Given the description of an element on the screen output the (x, y) to click on. 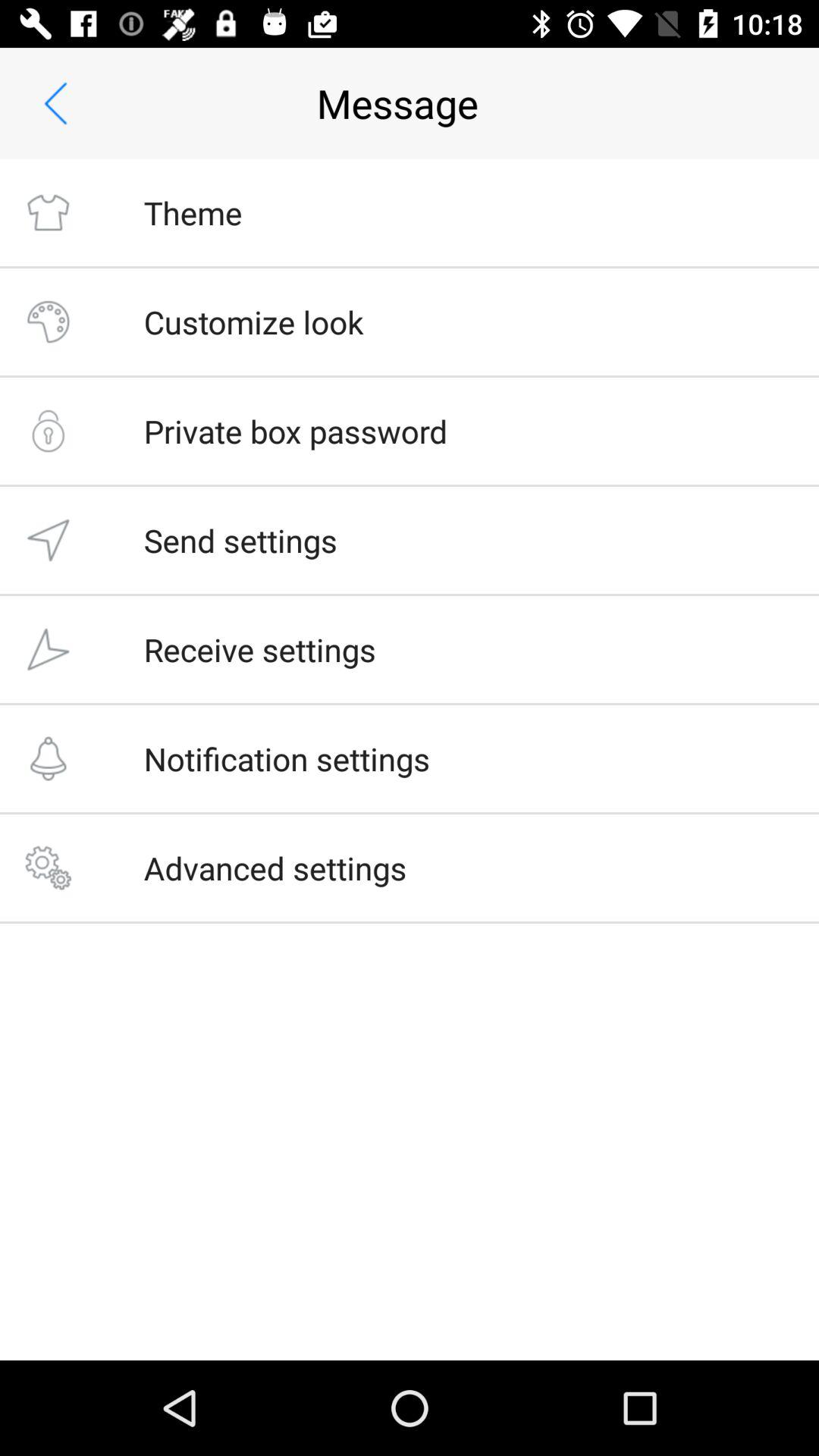
press the app to the left of message app (55, 103)
